Given the description of an element on the screen output the (x, y) to click on. 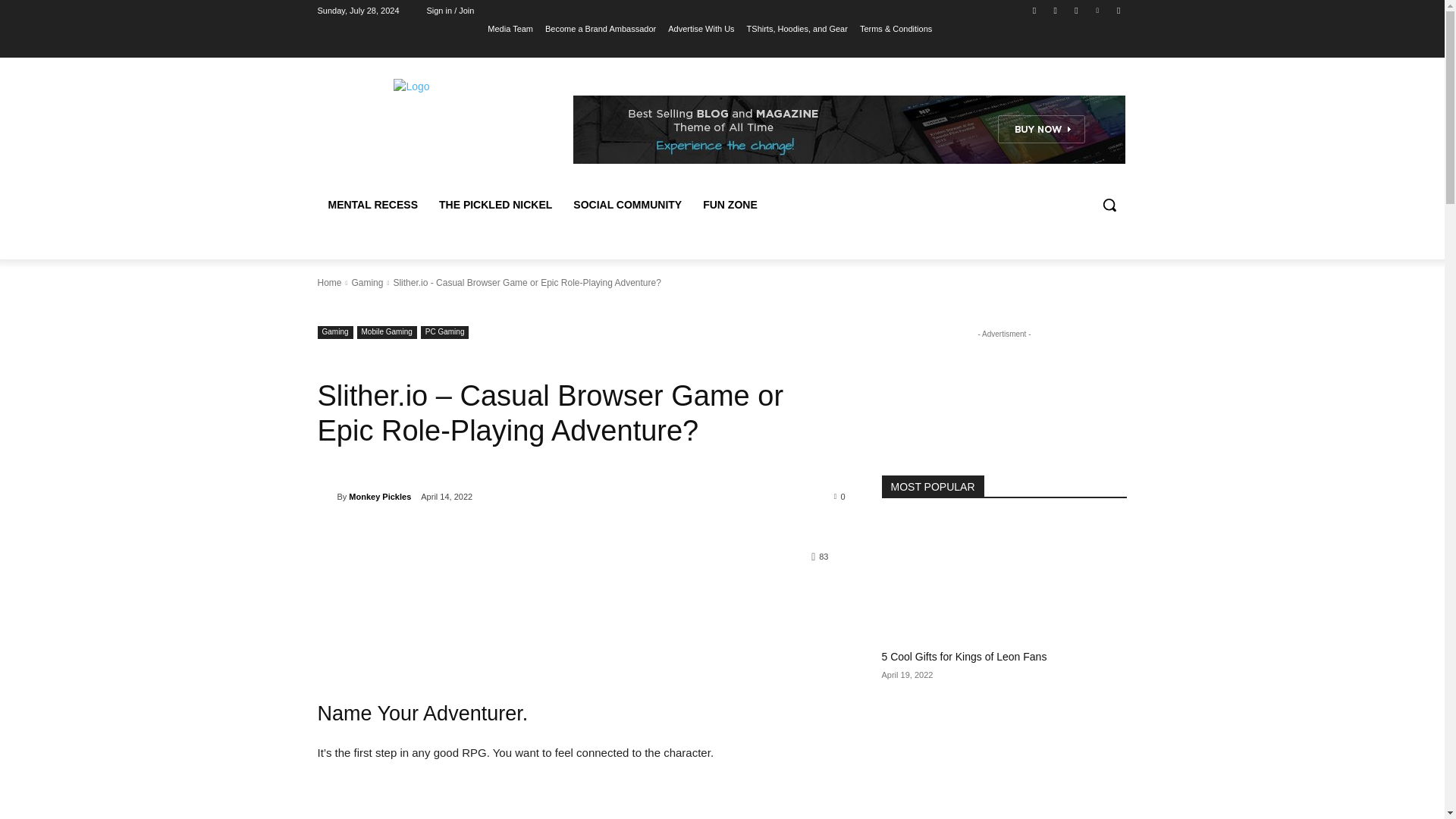
FUN ZONE (730, 204)
Monkey Pickles (379, 496)
Youtube (1117, 9)
Become a Brand Ambassador (600, 28)
MENTAL RECESS (372, 204)
Mobile Gaming (386, 332)
Advertise With Us (700, 28)
0 (839, 495)
Home (328, 282)
PC Gaming (444, 332)
Monkey Pickles (326, 496)
Instagram (1055, 9)
Gaming (366, 282)
Facebook (1034, 9)
THE PICKLED NICKEL (495, 204)
